Given the description of an element on the screen output the (x, y) to click on. 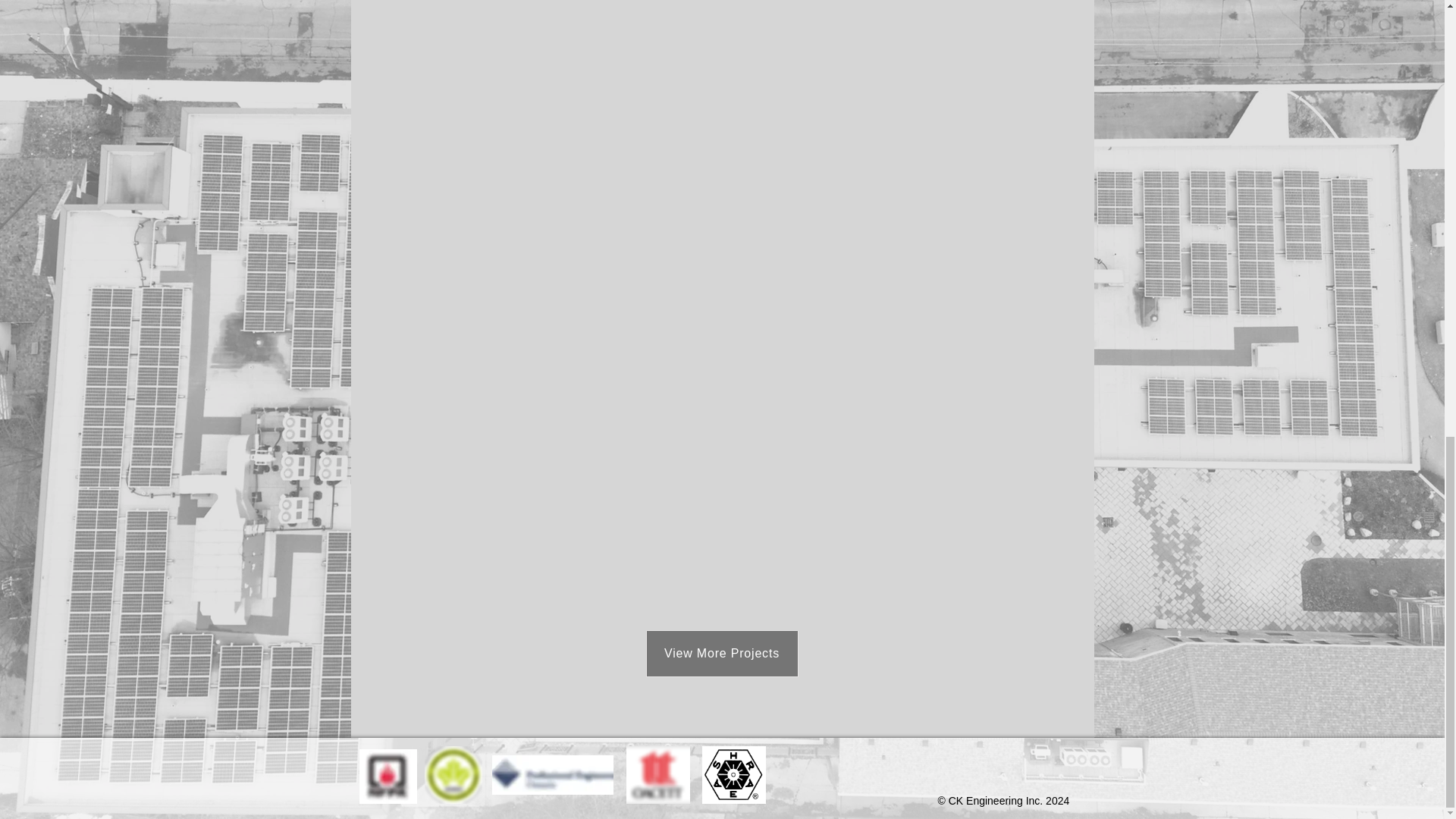
View More Projects (721, 653)
